Given the description of an element on the screen output the (x, y) to click on. 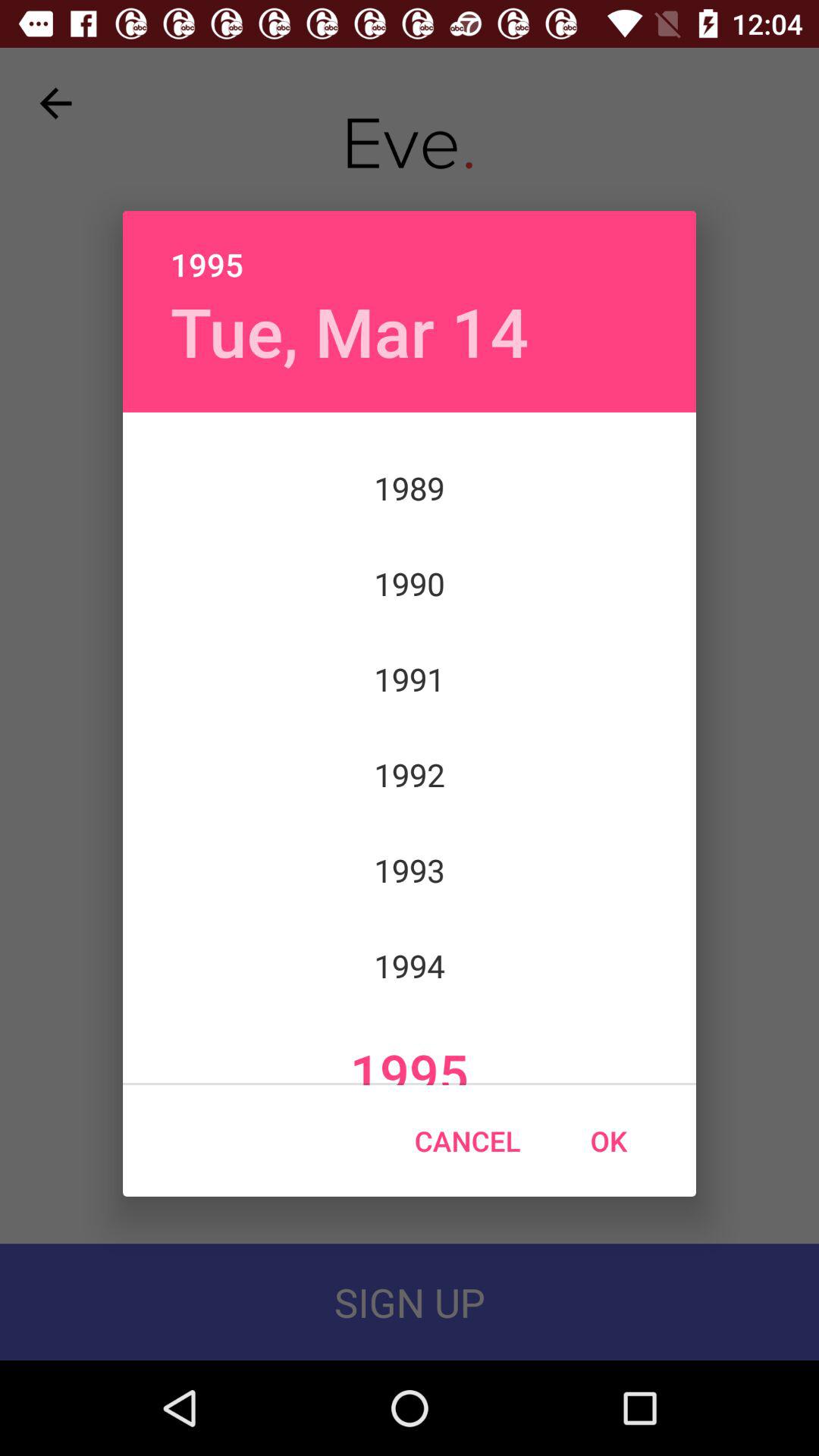
choose icon below 1995 item (608, 1140)
